Given the description of an element on the screen output the (x, y) to click on. 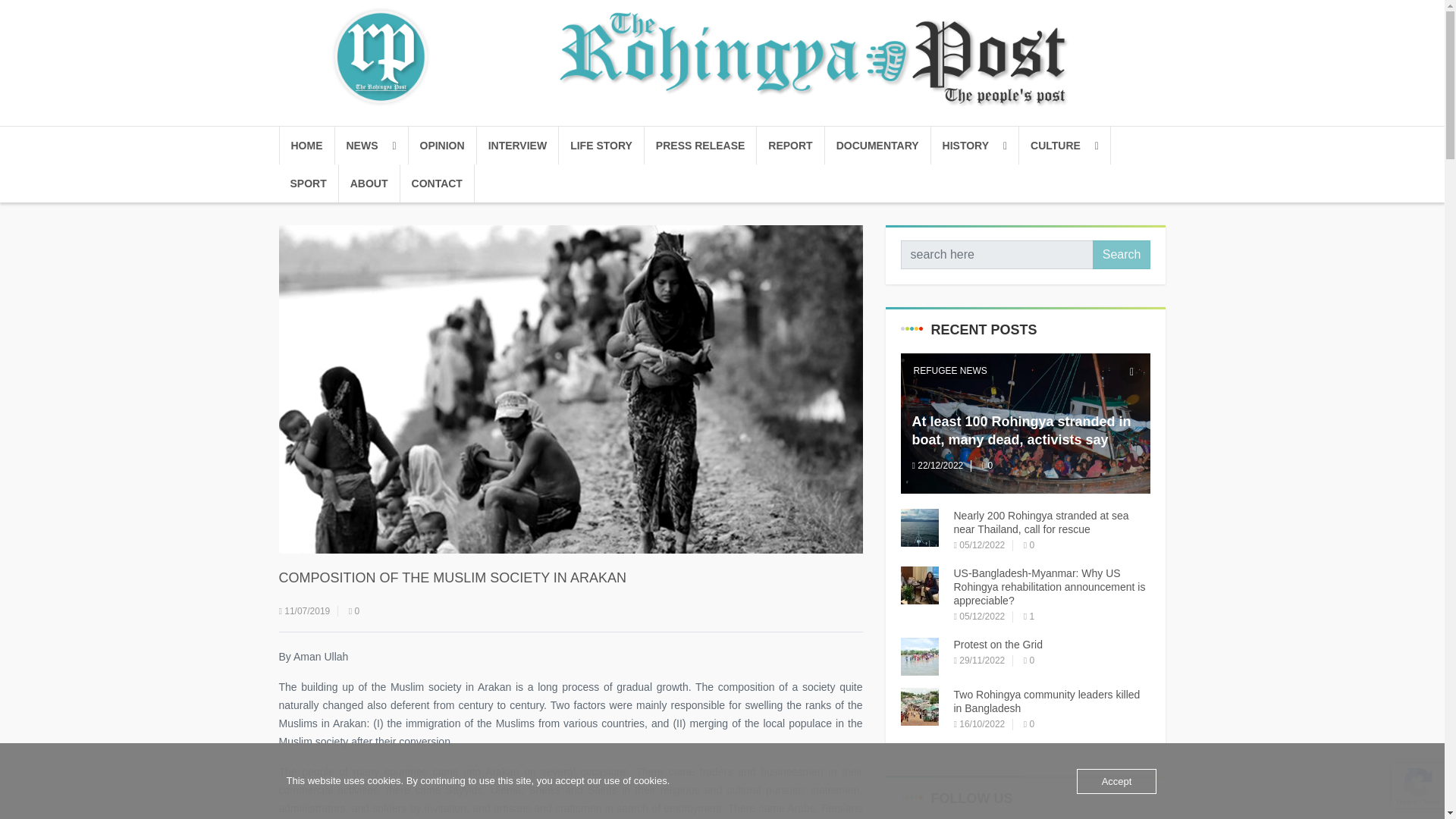
NEWS (371, 145)
CULTURE (1064, 145)
DOCUMENTARY (878, 145)
HISTORY (975, 145)
0 (354, 611)
LIFE STORY (602, 145)
INTERVIEW (518, 145)
OPINION (441, 145)
SPORT (309, 183)
logo (721, 55)
ABOUT (369, 183)
CONTACT (437, 183)
PRESS RELEASE (701, 145)
HOME (306, 145)
REPORT (790, 145)
